Given the description of an element on the screen output the (x, y) to click on. 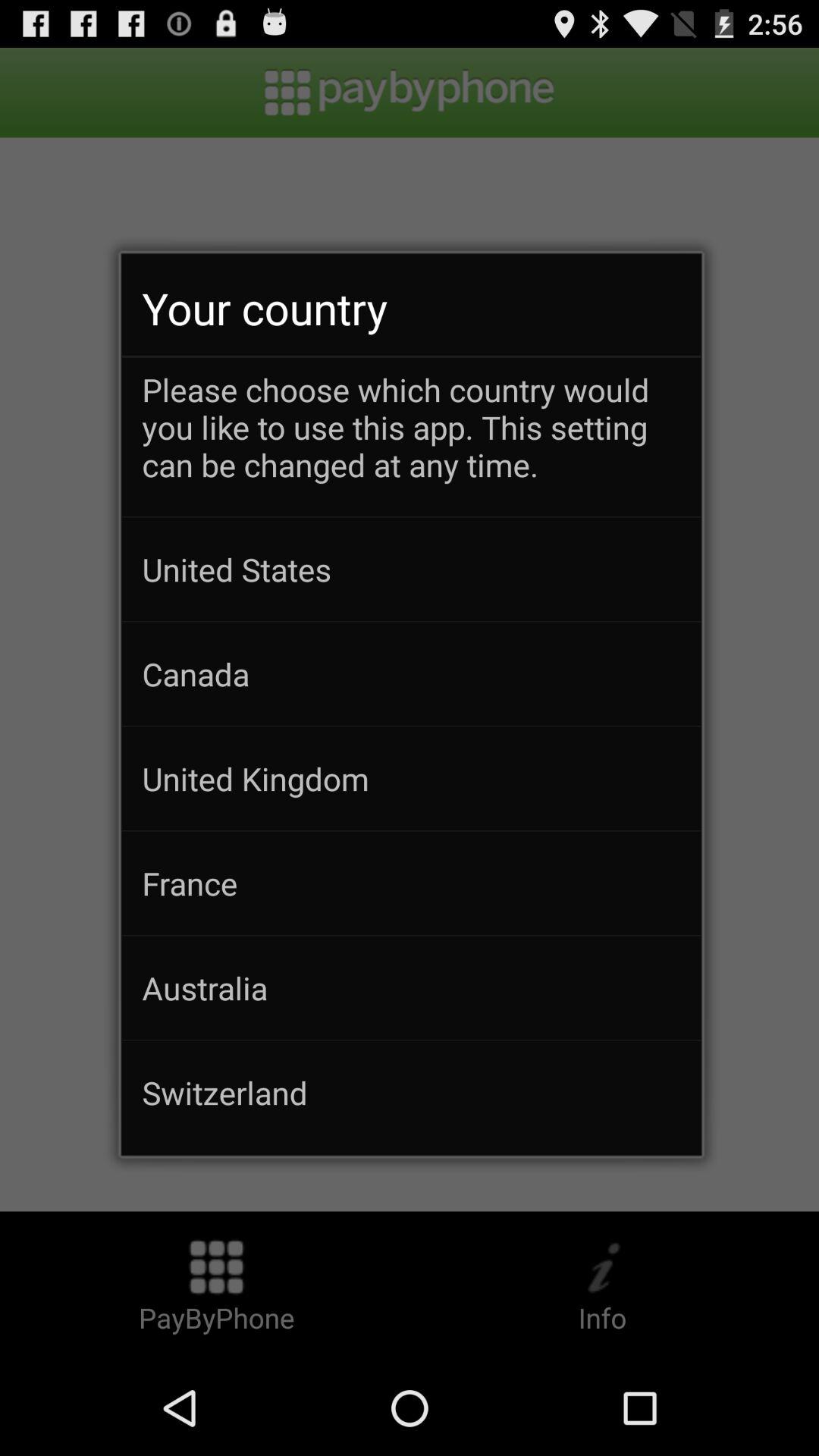
flip until the united states icon (411, 569)
